Given the description of an element on the screen output the (x, y) to click on. 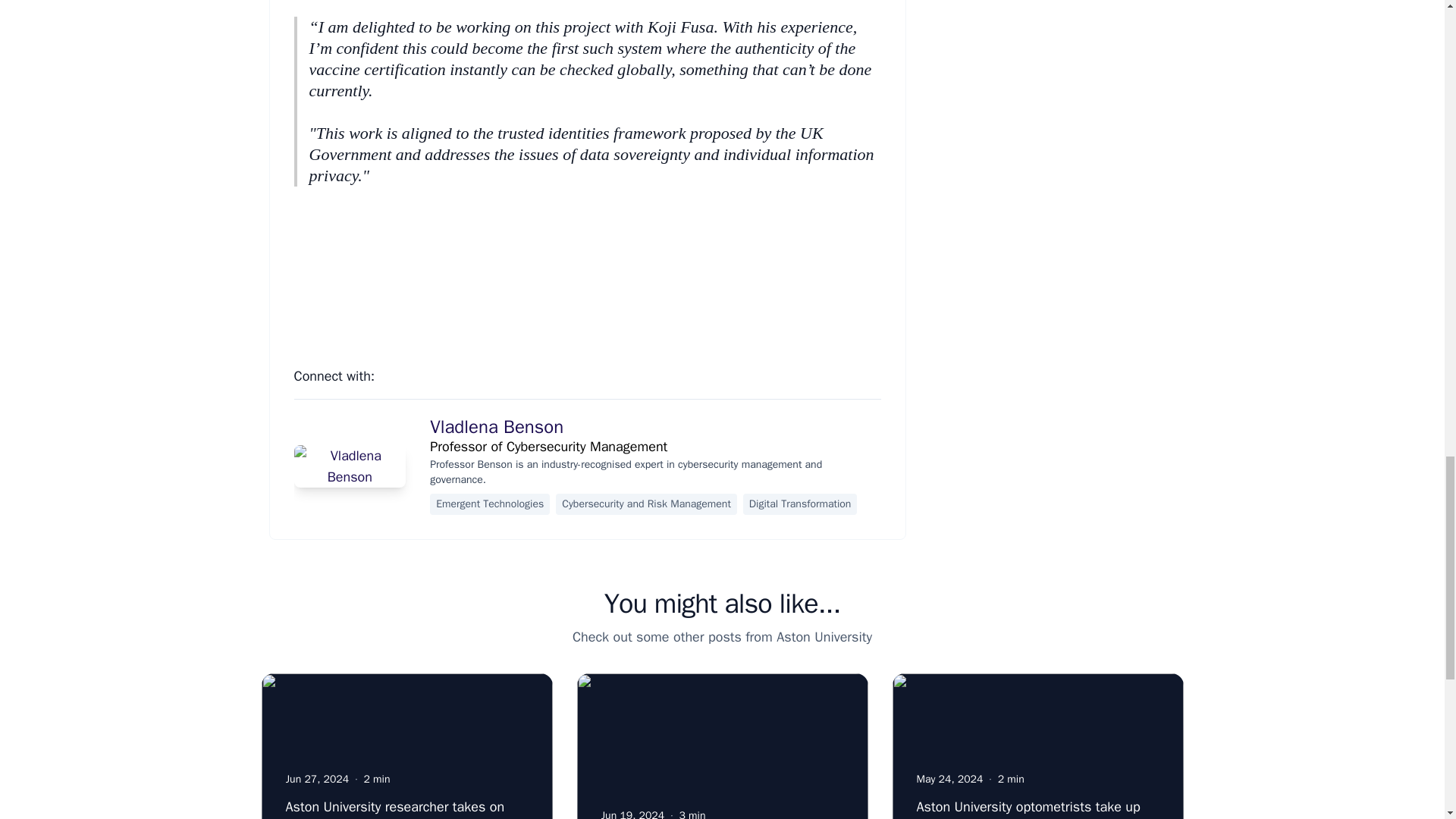
Vladlena Benson (496, 426)
